Given the description of an element on the screen output the (x, y) to click on. 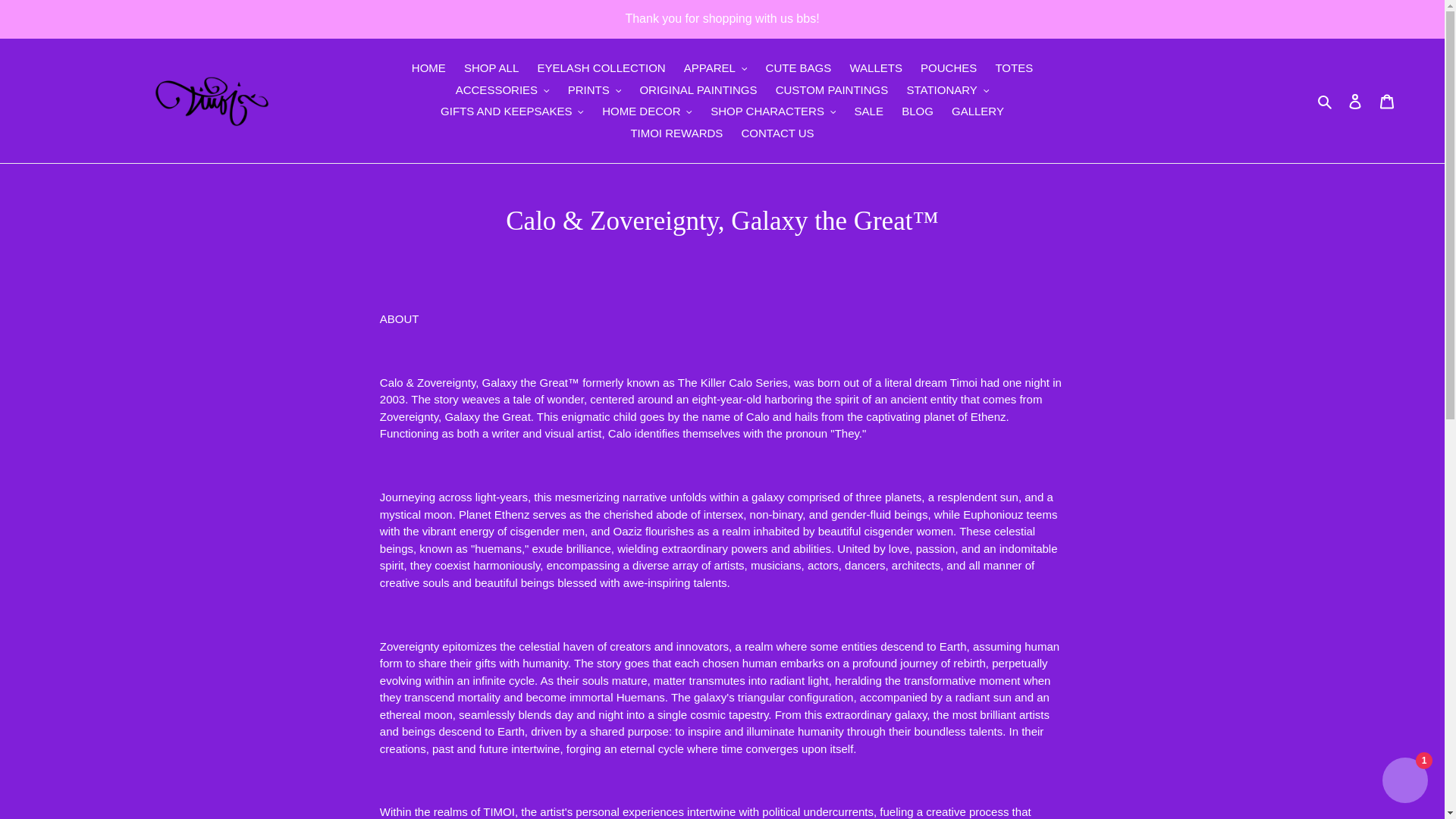
POUCHES (948, 68)
STATIONARY (946, 89)
ORIGINAL PAINTINGS (697, 89)
ACCESSORIES (502, 89)
HOME (428, 68)
GIFTS AND KEEPSAKES (511, 111)
CUSTOM PAINTINGS (832, 89)
Shopify online store chat (1404, 781)
CUTE BAGS (799, 68)
EYELASH COLLECTION (600, 68)
SHOP ALL (491, 68)
TOTES (1014, 68)
Thank you for shopping with us bbs! (721, 18)
PRINTS (594, 89)
WALLETS (874, 68)
